Given the description of an element on the screen output the (x, y) to click on. 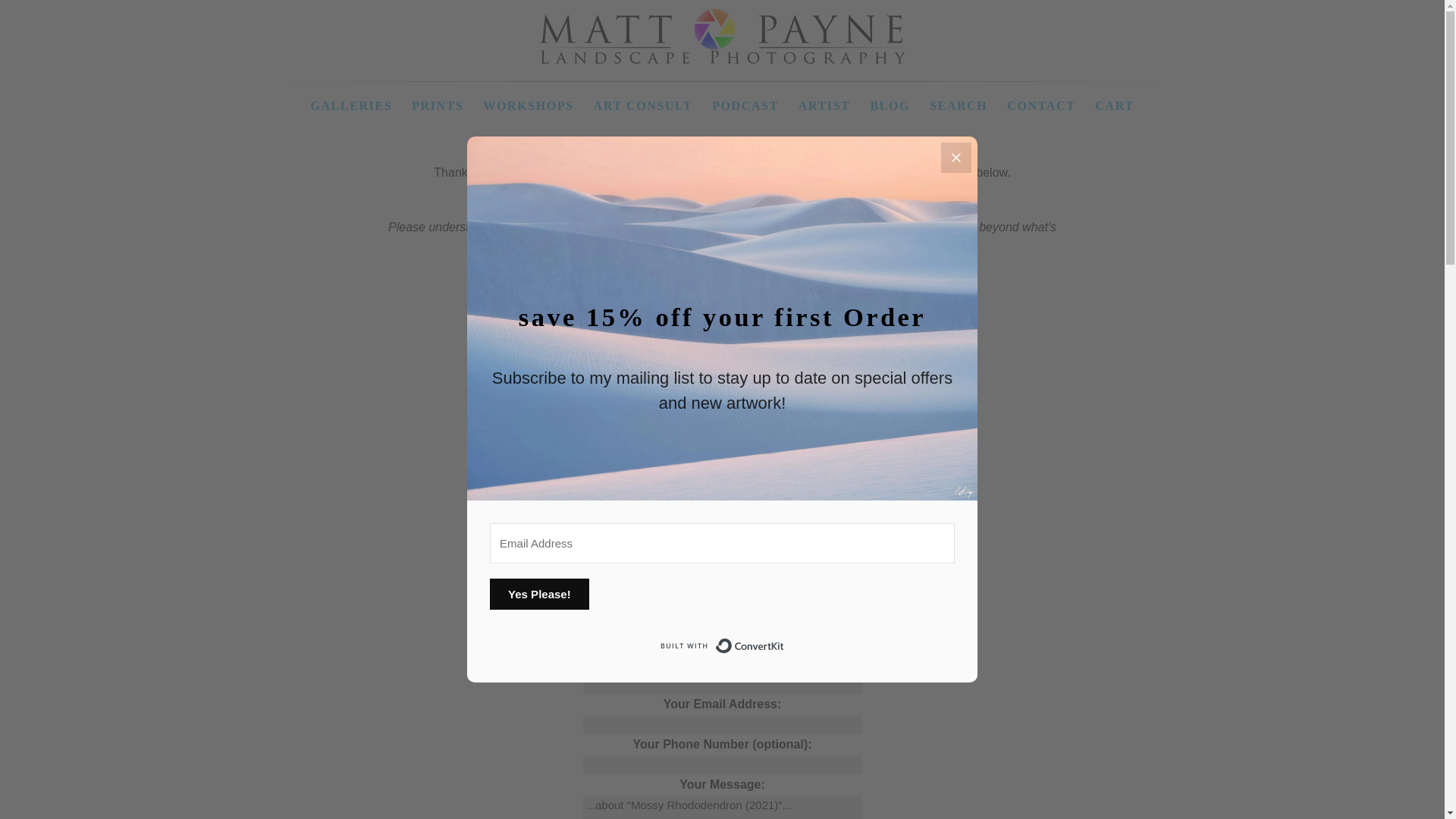
CONTACT (1040, 101)
ART CONSULT (643, 101)
CART (1114, 101)
PODCAST (745, 101)
outlined here (879, 245)
ARTIST (824, 101)
WORKSHOPS (528, 101)
BLOG (889, 101)
Matt Payne Photos (721, 60)
SEARCH (957, 101)
PRINTS (437, 101)
GALLERIES (351, 101)
